Given the description of an element on the screen output the (x, y) to click on. 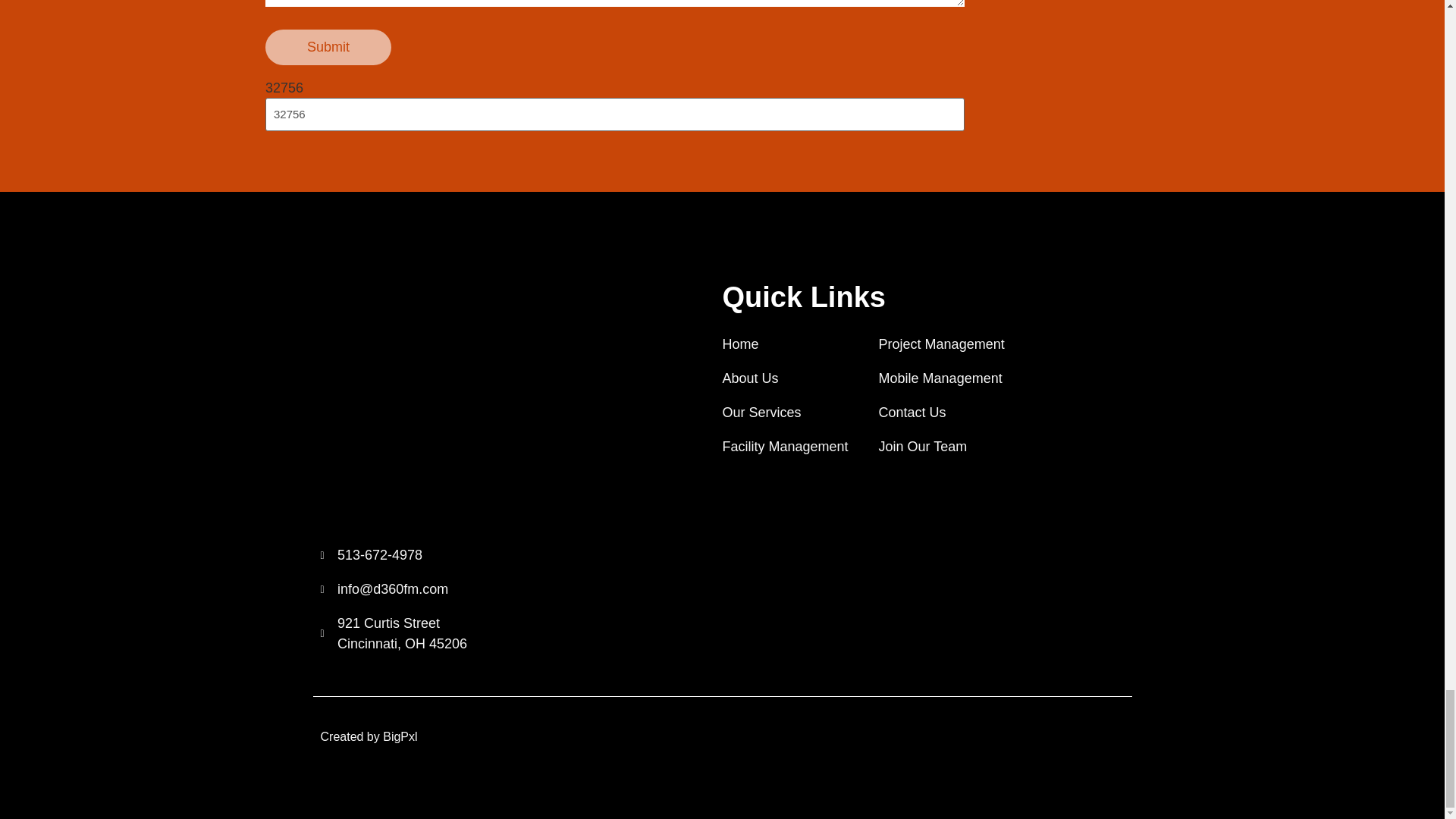
Our Services (784, 412)
32756 (393, 633)
Home (613, 114)
Project Management (784, 344)
About Us (941, 344)
Submit (784, 378)
Submit (327, 47)
513-672-4978 (327, 47)
Facility Management (393, 555)
